Given the description of an element on the screen output the (x, y) to click on. 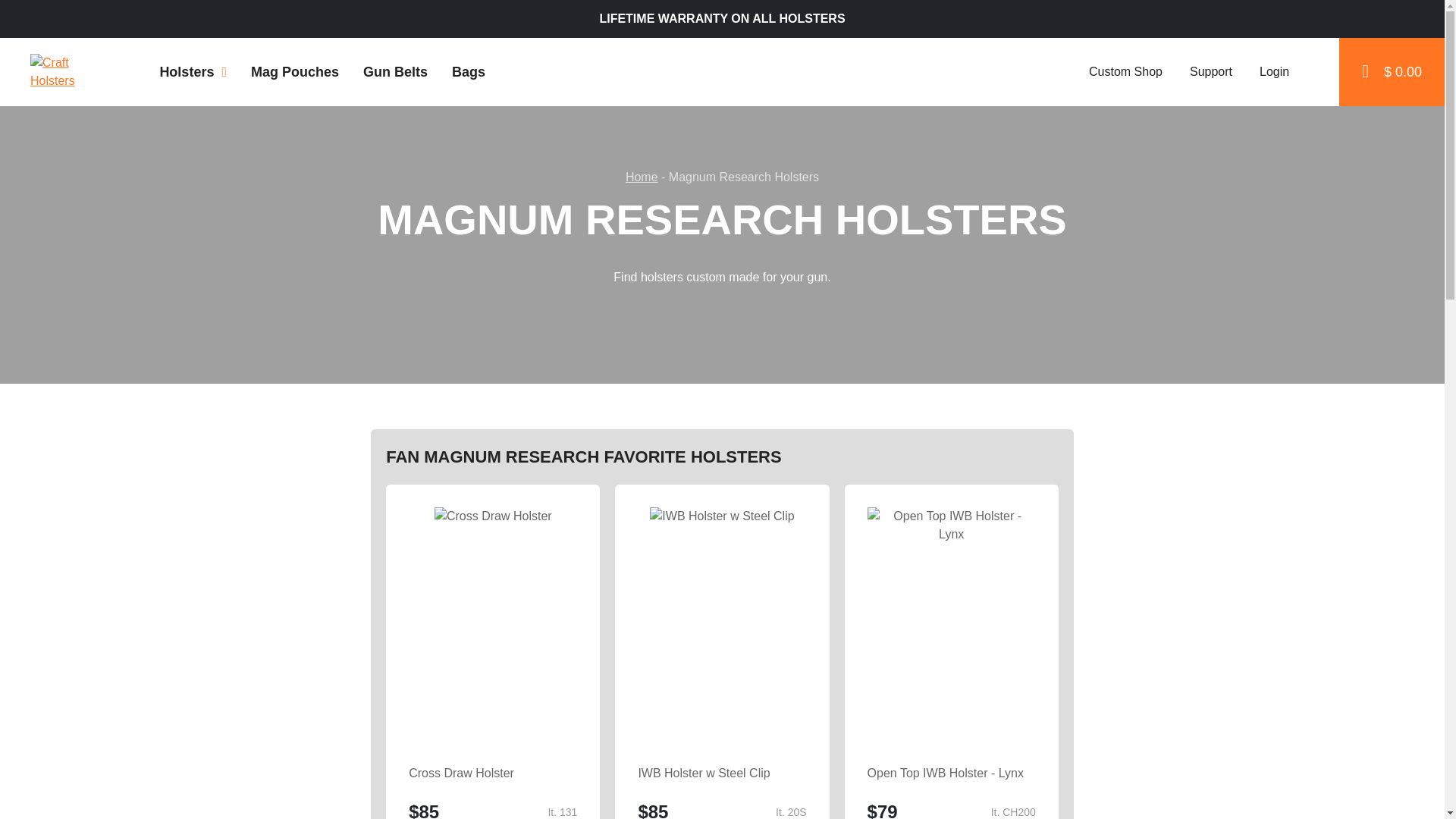
Gun Belts (394, 71)
Home (642, 176)
Custom Shop (1124, 71)
Bags (468, 71)
Mag Pouches (294, 71)
Holsters (192, 71)
Support (1209, 71)
Login (1272, 71)
